Given the description of an element on the screen output the (x, y) to click on. 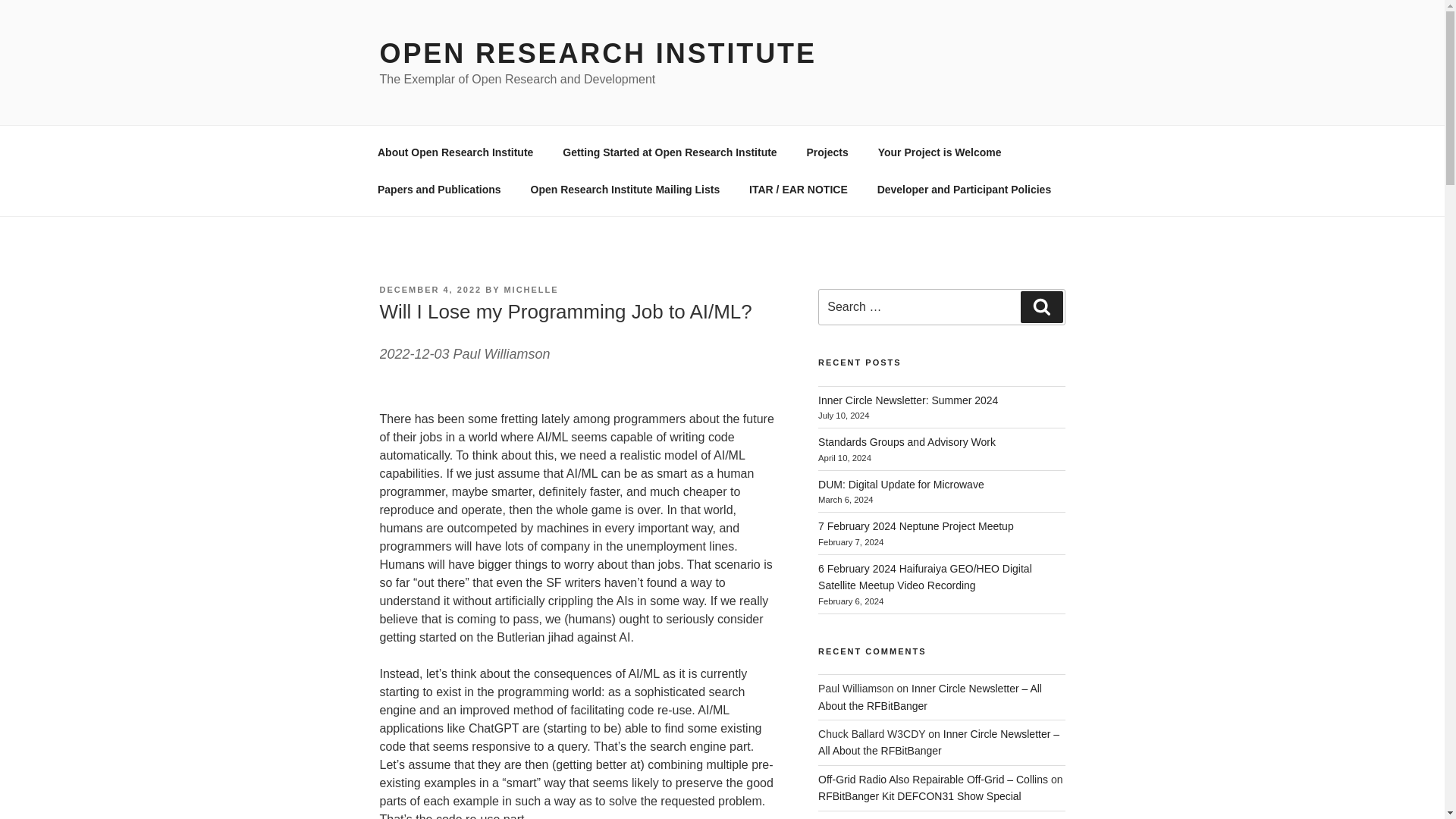
Standards Groups and Advisory Work (906, 441)
Getting Started at Open Research Institute (670, 151)
Search (1041, 306)
MICHELLE (530, 289)
About Open Research Institute (455, 151)
Your Project is Welcome (939, 151)
RFBitBanger Kit DEFCON31 Show Special (920, 796)
OPEN RESEARCH INSTITUTE (596, 52)
Projects (827, 151)
Developer and Participant Policies (963, 189)
7 February 2024 Neptune Project Meetup (915, 526)
Inner Circle Newsletter: Summer 2024 (907, 399)
DUM: Digital Update for Microwave (901, 484)
DECEMBER 4, 2022 (429, 289)
Open Research Institute Mailing Lists (624, 189)
